Given the description of an element on the screen output the (x, y) to click on. 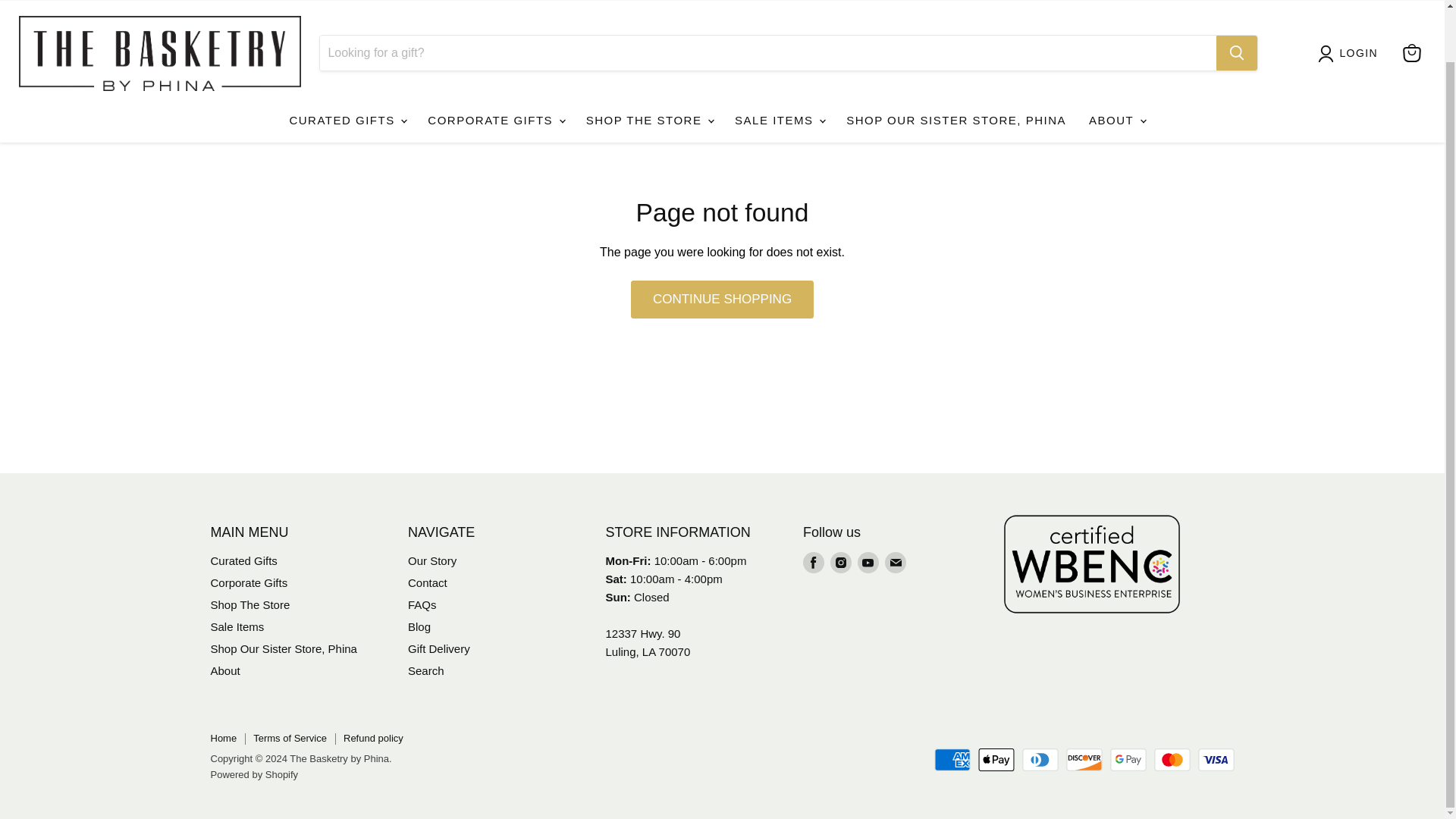
Email (895, 562)
View cart (1411, 32)
CORPORATE GIFTS (494, 101)
Discover (1083, 759)
Mastercard (1172, 759)
Google Pay (1128, 759)
LOGIN (1358, 33)
Instagram (840, 562)
SHOP THE STORE (649, 101)
Visa (1216, 759)
